Given the description of an element on the screen output the (x, y) to click on. 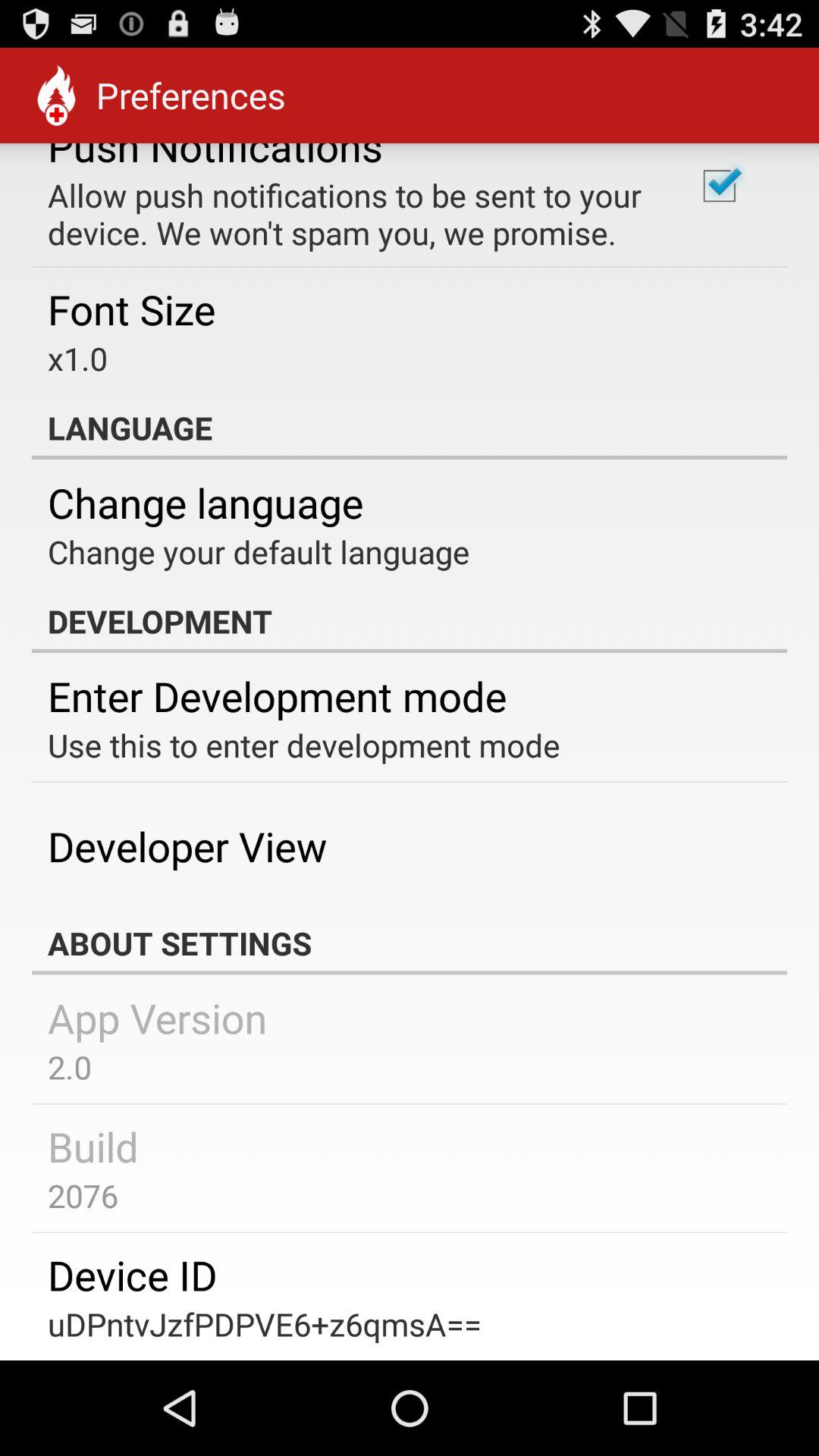
click app below the build (82, 1195)
